Given the description of an element on the screen output the (x, y) to click on. 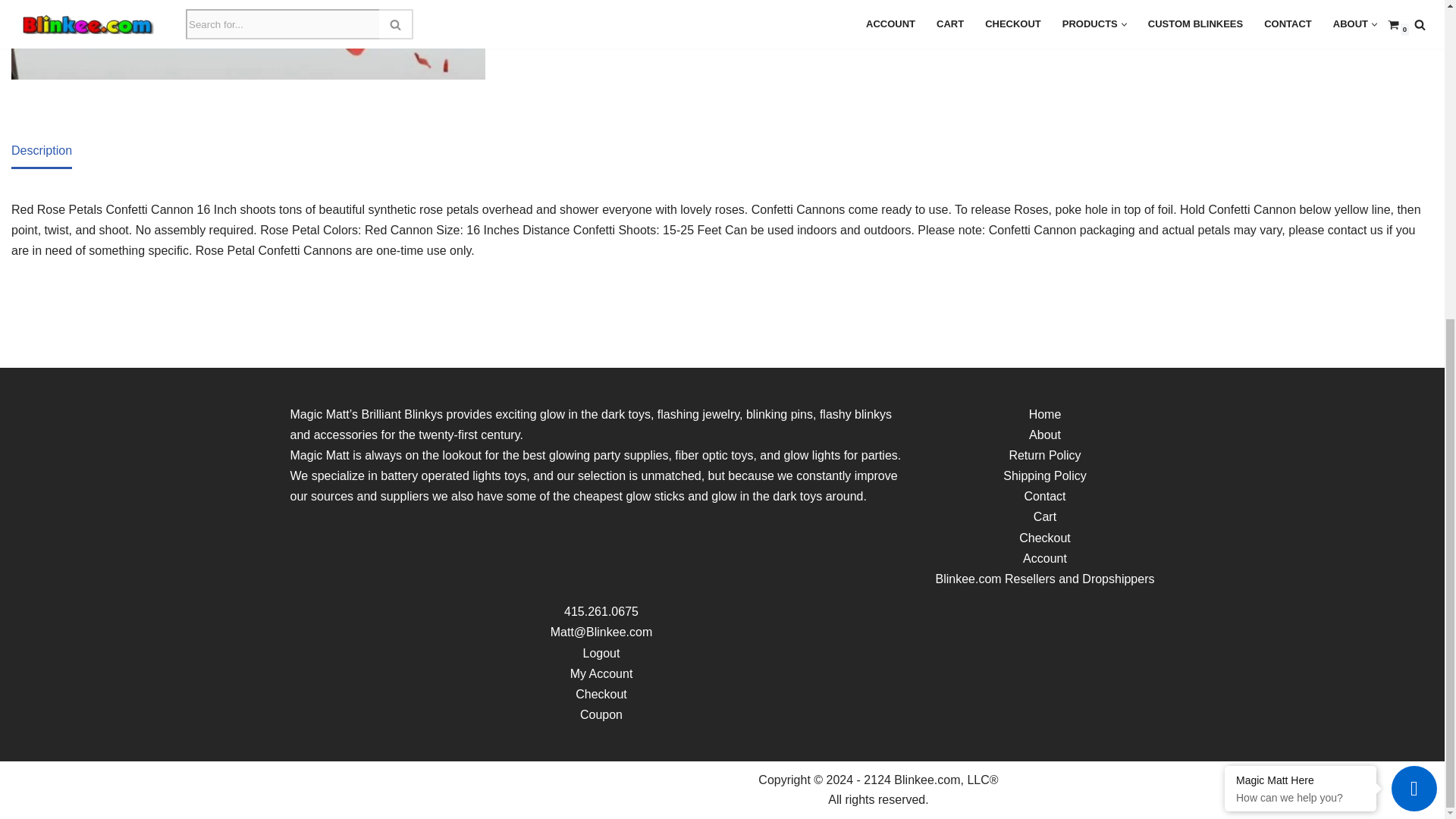
Email Magic Matt (601, 631)
Red Rose Petals Confetti Cannon 16 Inch All Products (247, 39)
Call Magic Matt (601, 611)
